Given the description of an element on the screen output the (x, y) to click on. 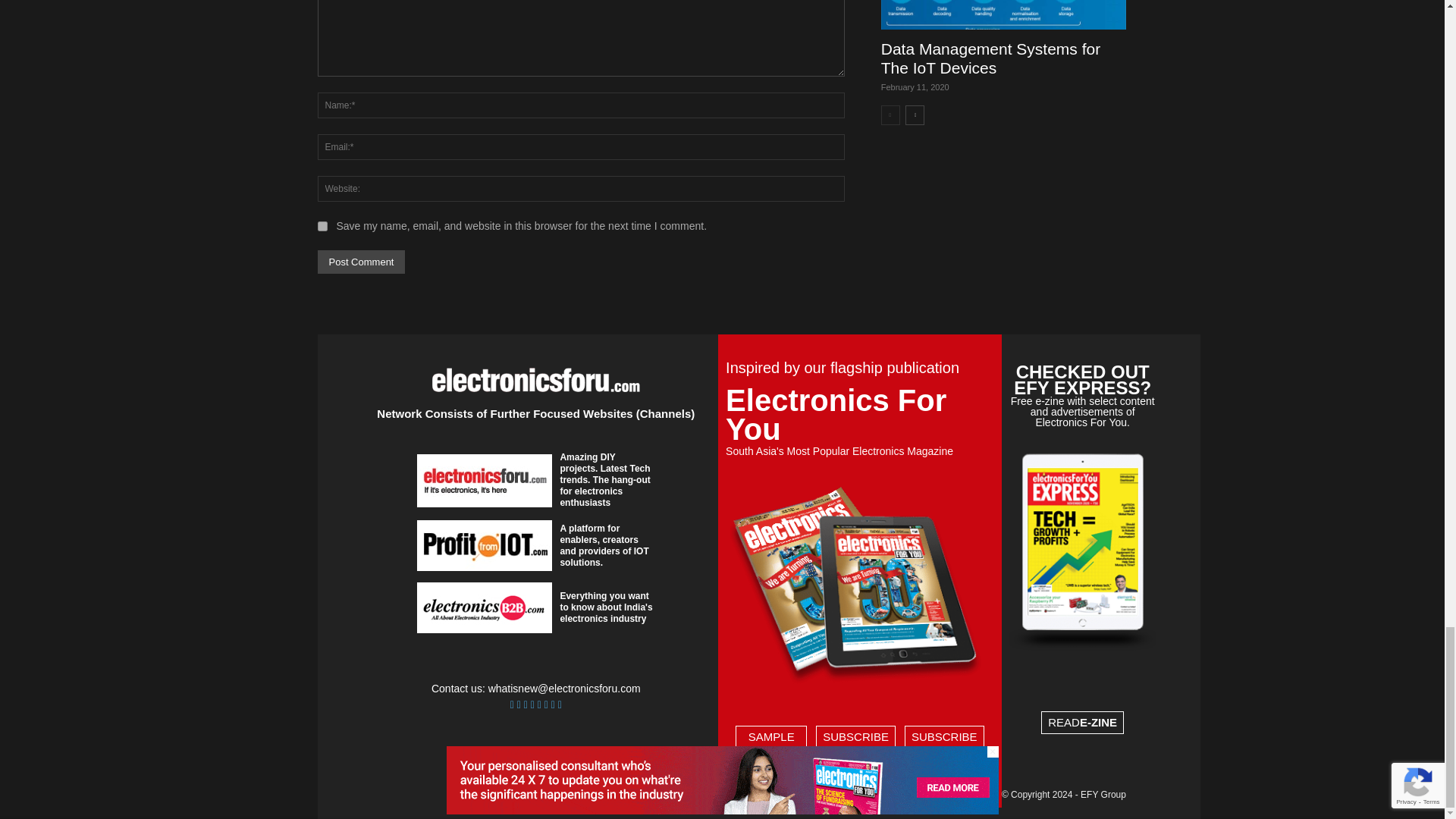
yes (321, 225)
Post Comment (360, 261)
